Given the description of an element on the screen output the (x, y) to click on. 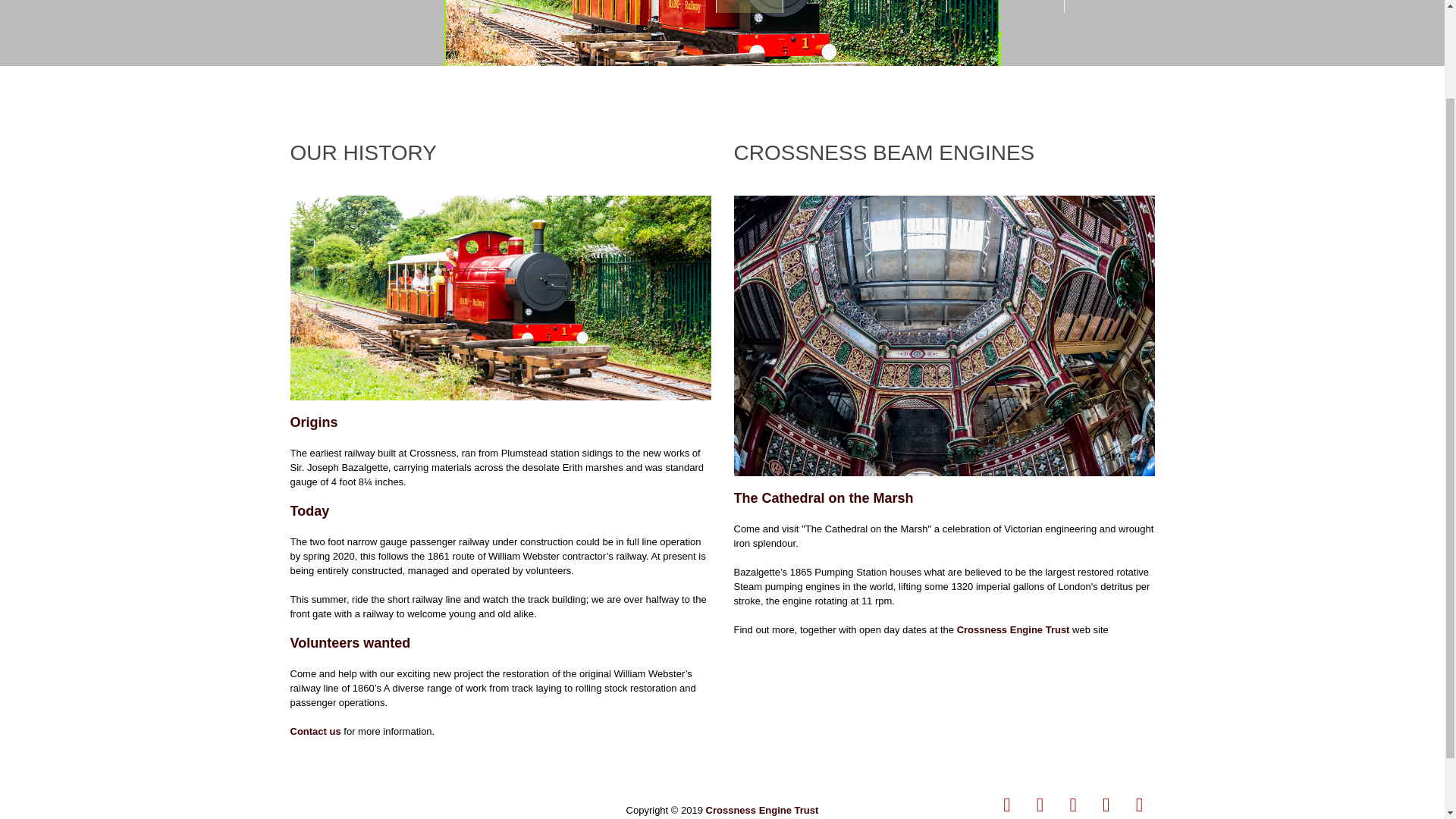
CONTACT (1108, 6)
Crossness Engine Trust (762, 809)
EVENTS (907, 6)
Contact us (314, 731)
about us (499, 298)
VOLUNTEERS (1005, 6)
HISTORY (825, 6)
HOME (749, 6)
company (943, 335)
Crossness Engine Trust (1013, 629)
